Given the description of an element on the screen output the (x, y) to click on. 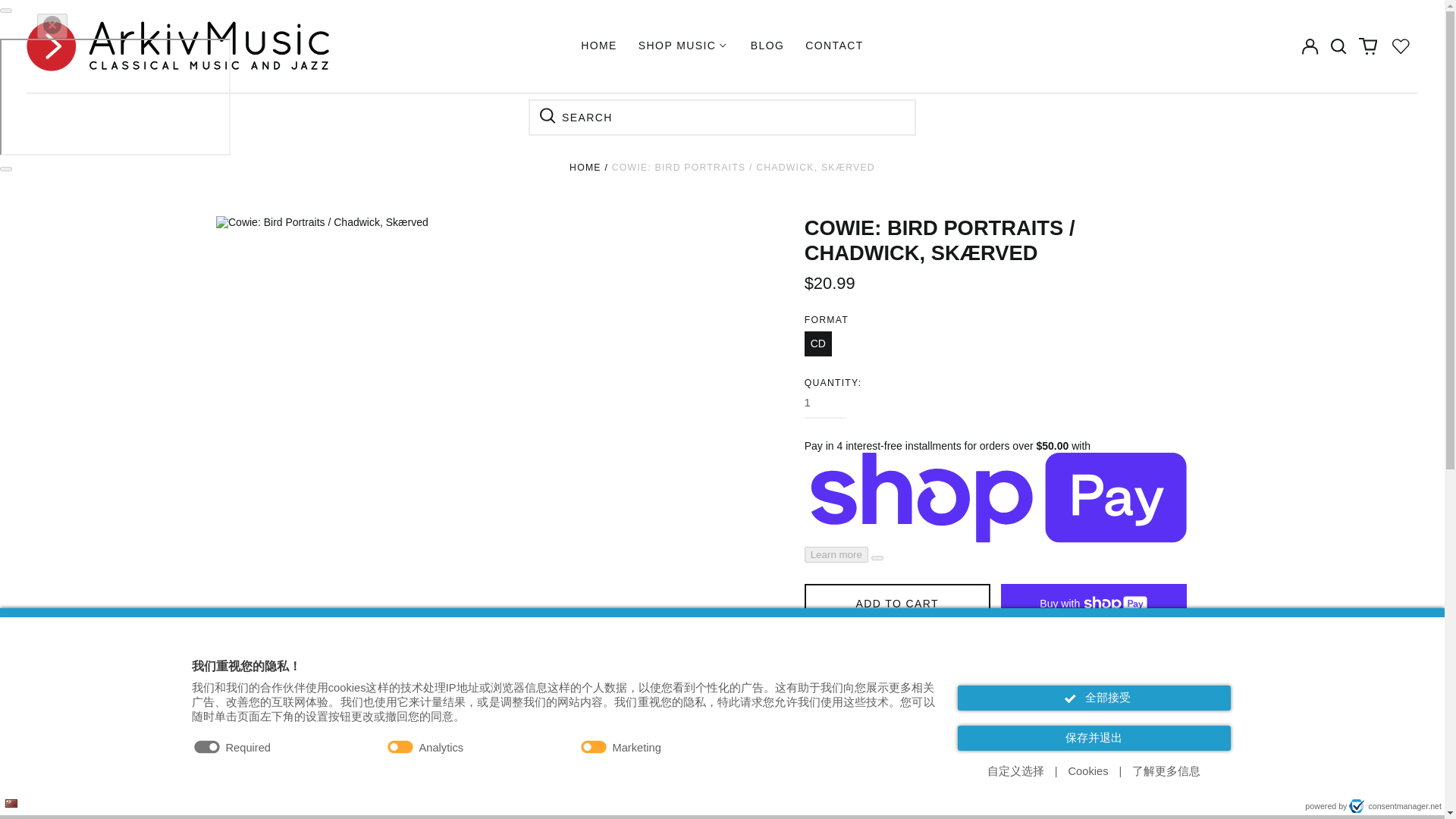
SHOP MUSIC (683, 45)
consentmanager.net (1395, 806)
Language: zh (11, 803)
BLOG (766, 45)
Home (585, 167)
CONTACT (833, 45)
Language: zh (11, 803)
0 items (1367, 46)
Search our site (1338, 46)
Cookies (1088, 771)
HOME (598, 45)
Log in (1309, 46)
